Given the description of an element on the screen output the (x, y) to click on. 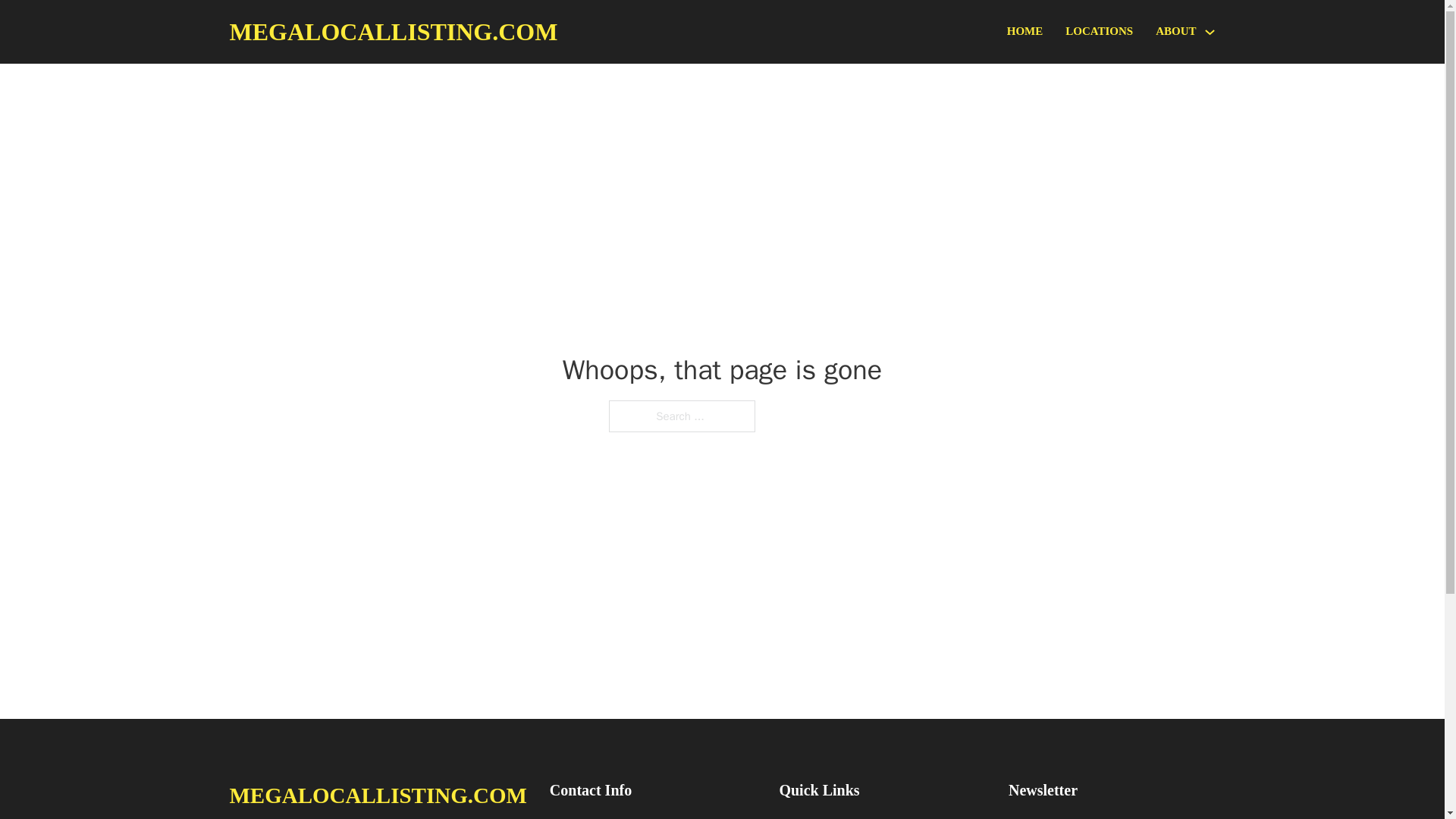
MEGALOCALLISTING.COM (376, 795)
LOCATIONS (1098, 31)
MEGALOCALLISTING.COM (392, 31)
HOME (1025, 31)
